Given the description of an element on the screen output the (x, y) to click on. 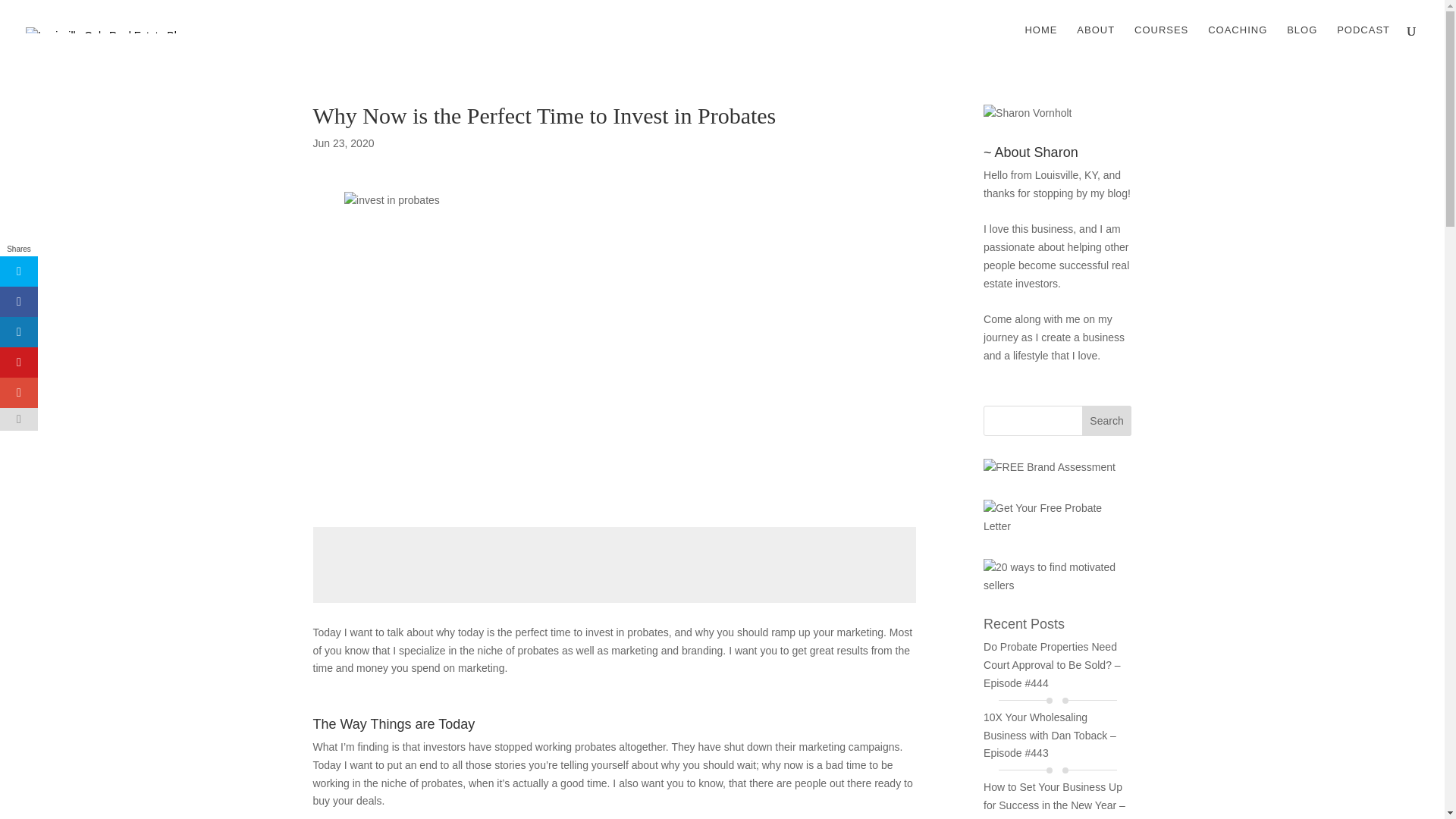
HOME (1041, 42)
COACHING (1237, 42)
PODCAST (1363, 42)
COURSES (1161, 42)
ABOUT (1096, 42)
Search (1106, 420)
Recent Posts (1024, 623)
Search (1106, 420)
